Given the description of an element on the screen output the (x, y) to click on. 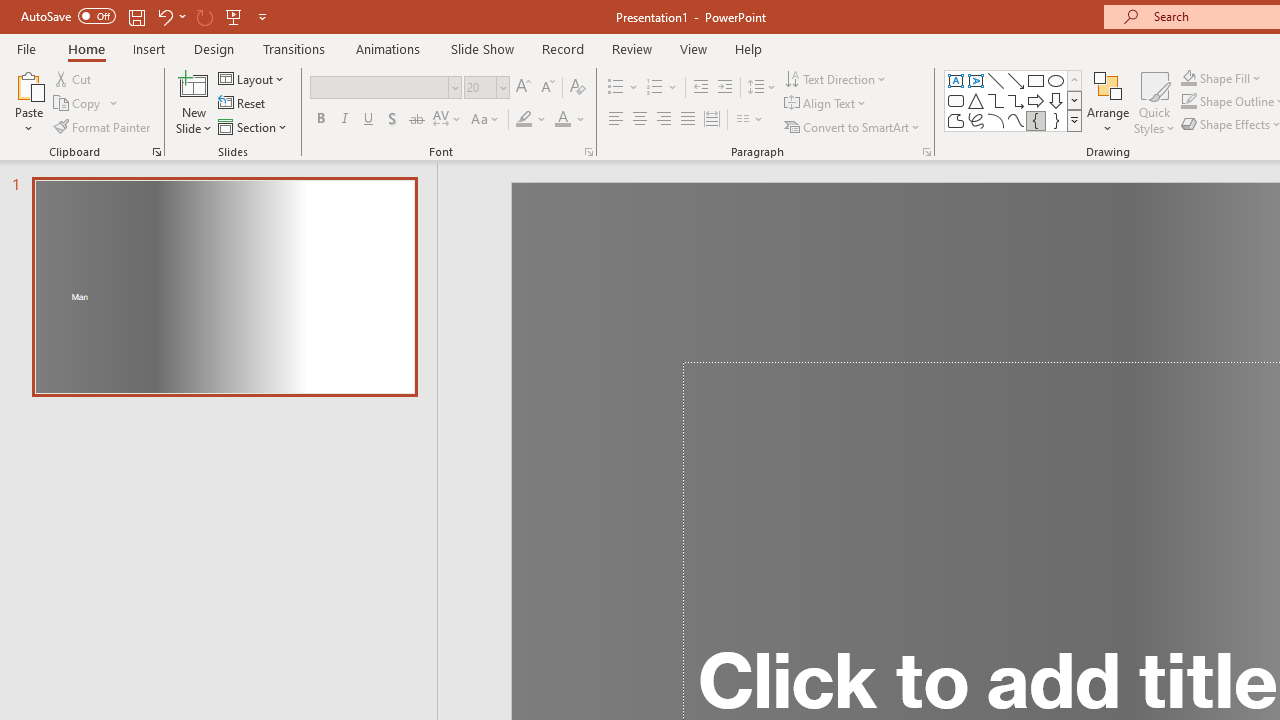
Layout (252, 78)
Text Direction (836, 78)
Convert to SmartArt (853, 126)
Paragraph... (926, 151)
Right Brace (1055, 120)
Left Brace (1035, 120)
Line Arrow (1016, 80)
Shape Fill Orange, Accent 2 (1188, 78)
Increase Indent (725, 87)
Cut (73, 78)
Change Case (486, 119)
